Given the description of an element on the screen output the (x, y) to click on. 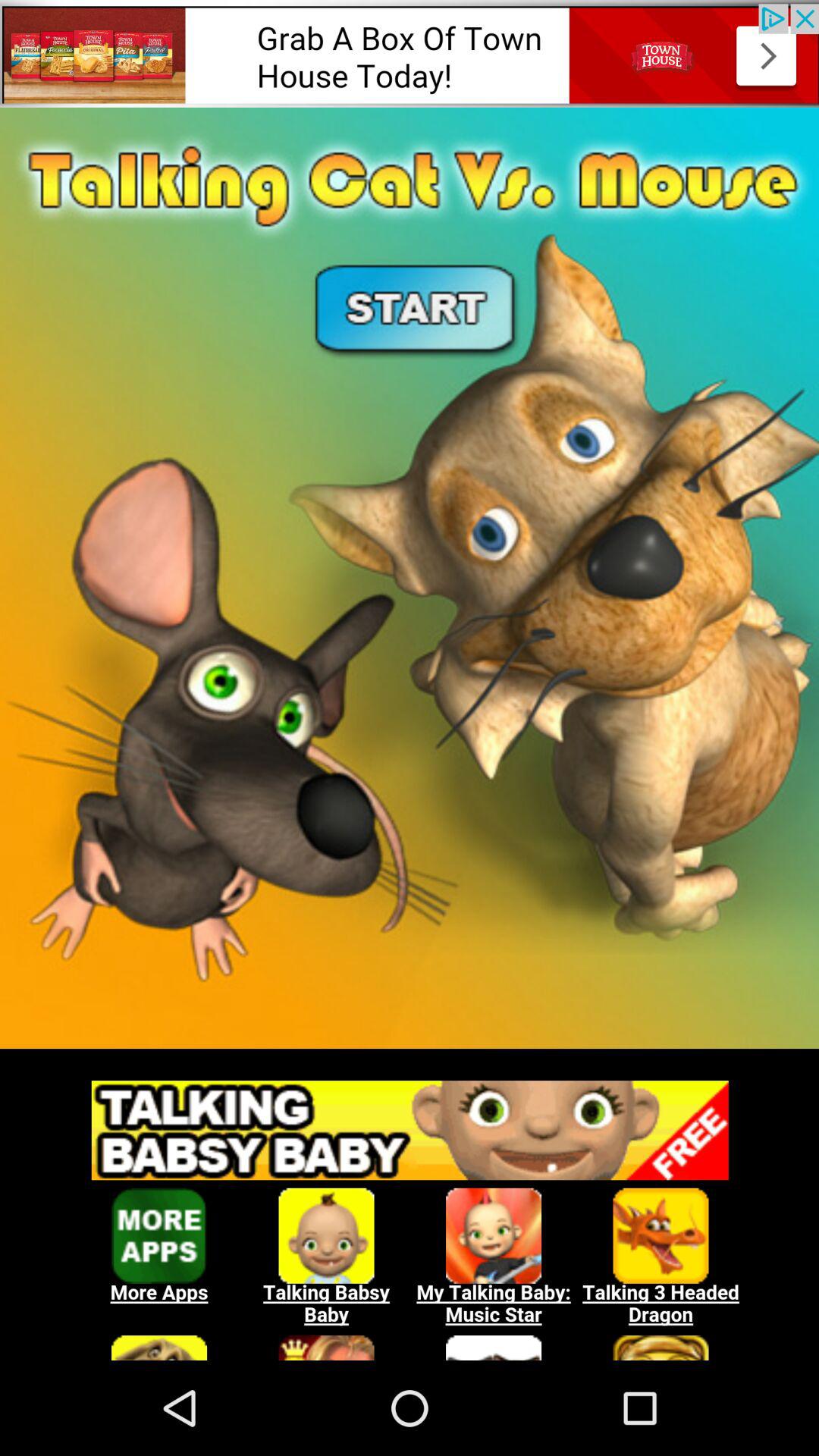
advertisement (409, 53)
